Given the description of an element on the screen output the (x, y) to click on. 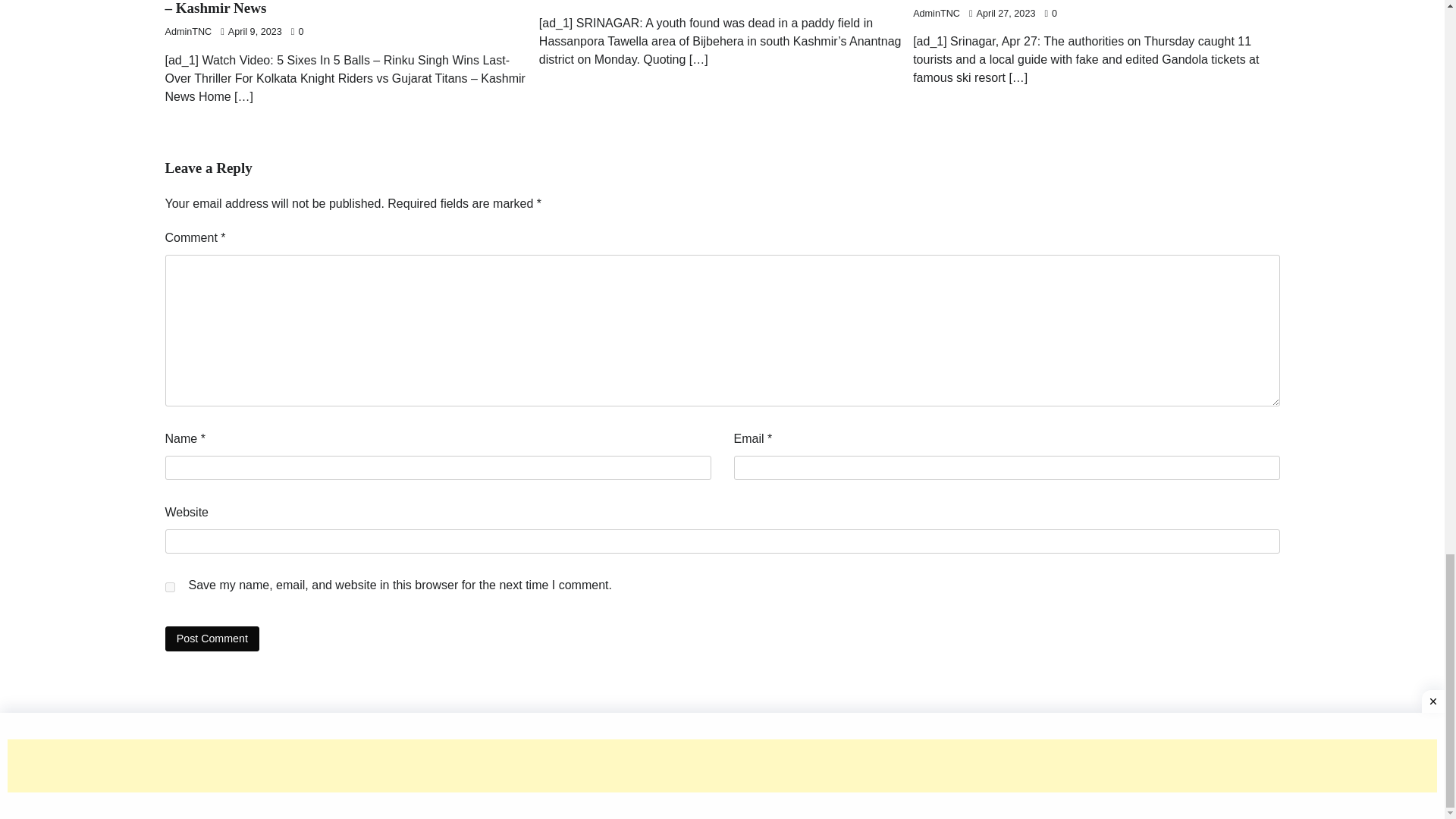
Post Comment (212, 638)
yes (169, 587)
AdminTNC (935, 13)
Adore Themes (924, 773)
Post Comment (212, 638)
AdminTNC (188, 31)
